Given the description of an element on the screen output the (x, y) to click on. 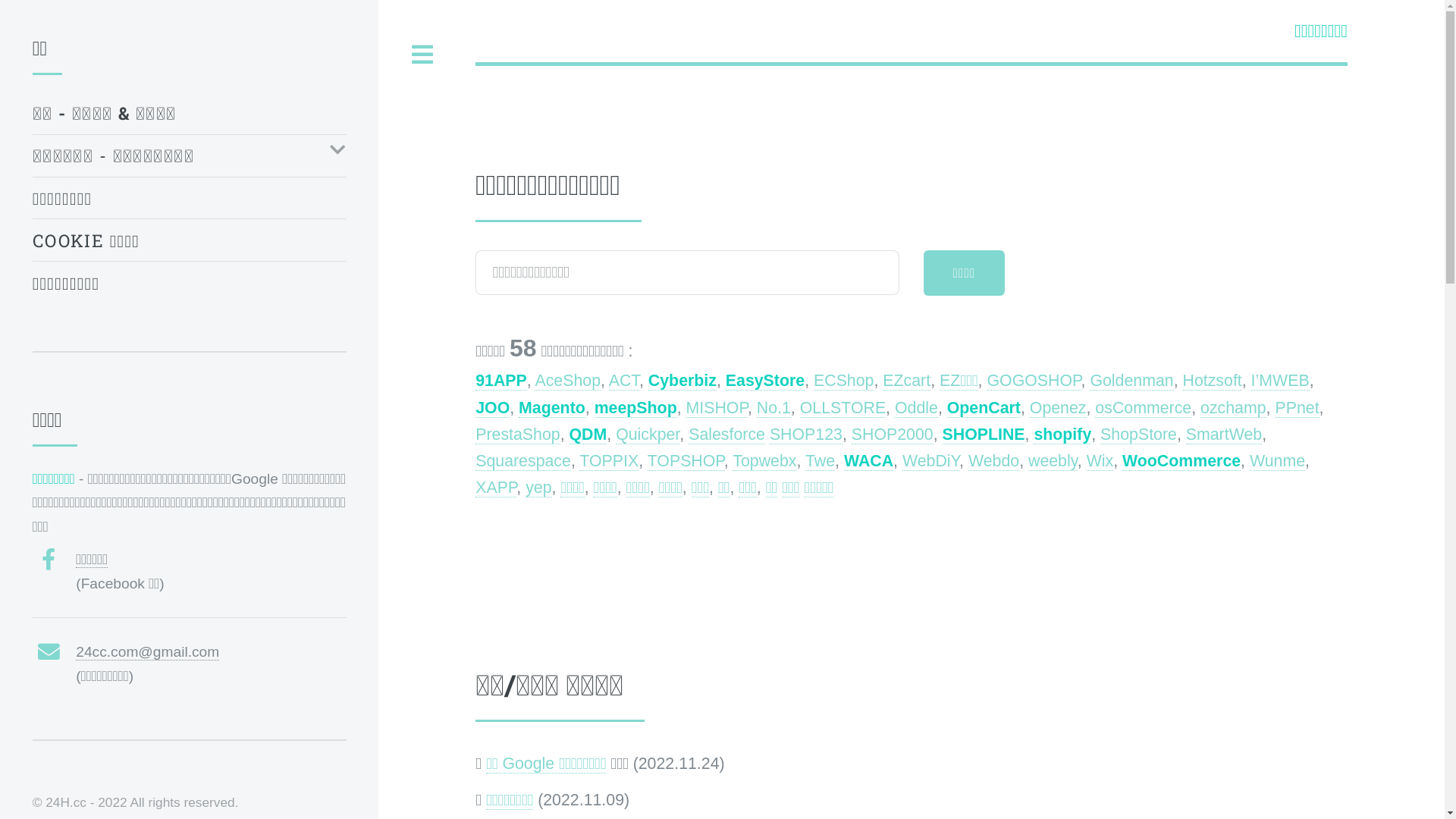
weebly Element type: text (1052, 460)
TOPSHOP Element type: text (685, 460)
WACA Element type: text (868, 460)
meepShop Element type: text (635, 407)
No.1 Element type: text (773, 407)
TOPPIX Element type: text (608, 460)
MISHOP Element type: text (716, 407)
Twe Element type: text (819, 460)
PrestaShop Element type: text (517, 434)
SHOPLINE Element type: text (983, 434)
AceShop Element type: text (567, 380)
ECShop Element type: text (843, 380)
Oddle Element type: text (916, 407)
Hotzsoft Element type: text (1212, 380)
QDM Element type: text (587, 434)
SHOP2000 Element type: text (892, 434)
Toggle Element type: text (421, 54)
Cyberbiz Element type: text (682, 380)
Goldenman Element type: text (1131, 380)
Magento Element type: text (551, 407)
Wix Element type: text (1099, 460)
Salesforce Element type: text (726, 434)
SmartWeb Element type: text (1223, 434)
yep Element type: text (538, 487)
WooCommerce Element type: text (1181, 460)
WebDiY Element type: text (930, 460)
ShopStore Element type: text (1138, 434)
Squarespace Element type: text (523, 460)
OLLSTORE Element type: text (842, 407)
ozchamp Element type: text (1233, 407)
osCommerce Element type: text (1143, 407)
Topwebx Element type: text (764, 460)
EZcart Element type: text (906, 380)
ACT Element type: text (623, 380)
OpenCart Element type: text (983, 407)
JOO Element type: text (492, 407)
EasyStore Element type: text (764, 380)
Wunme Element type: text (1277, 460)
Openez Element type: text (1057, 407)
GOGOSHOP Element type: text (1033, 380)
shopify Element type: text (1062, 434)
Webdo Element type: text (993, 460)
24cc.com@gmail.com Element type: text (147, 651)
XAPP Element type: text (495, 487)
Quickper Element type: text (647, 434)
SHOP123 Element type: text (805, 434)
PPnet Element type: text (1296, 407)
91APP Element type: text (501, 380)
